Given the description of an element on the screen output the (x, y) to click on. 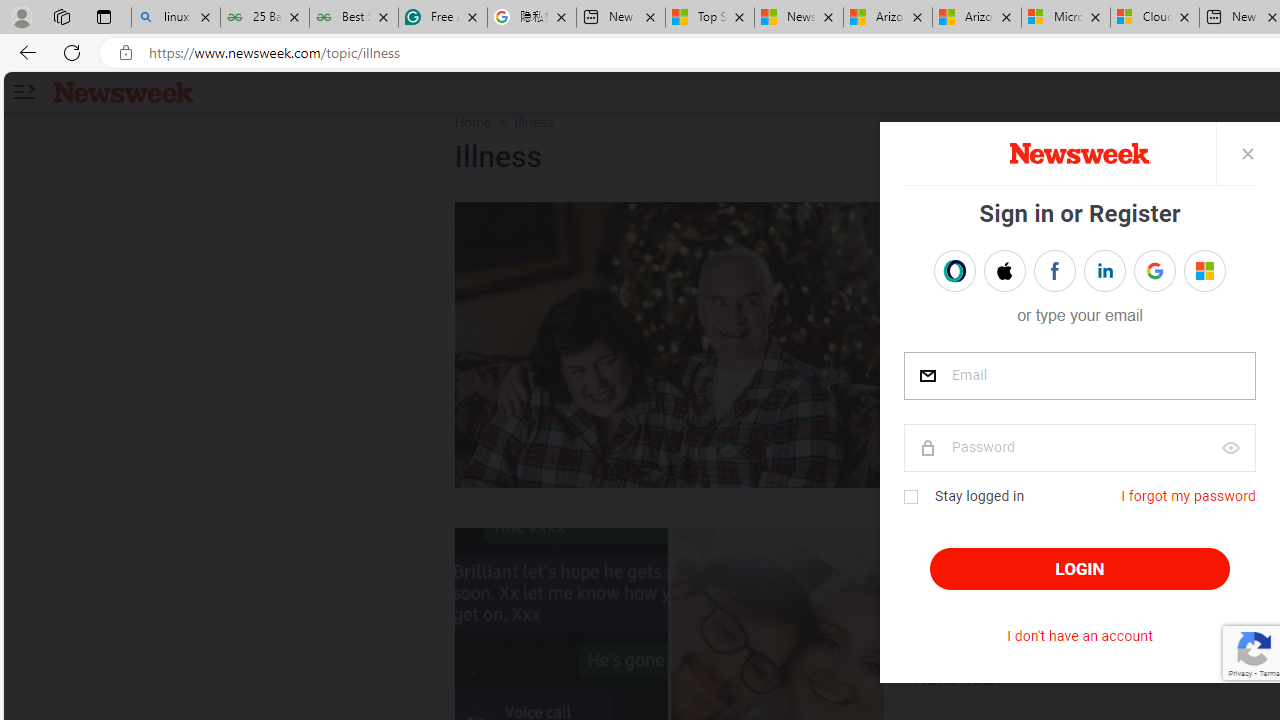
I don't have an account (1079, 636)
AutomationID: side-arrow (23, 92)
News - MSN (799, 17)
Newsweek logo (123, 91)
Best SSL Certificates Provider in India - GeeksforGeeks (353, 17)
Sign in with LINKEDIN (1104, 270)
LOGIN (1079, 569)
Free AI Writing Assistance for Students | Grammarly (443, 17)
